Given the description of an element on the screen output the (x, y) to click on. 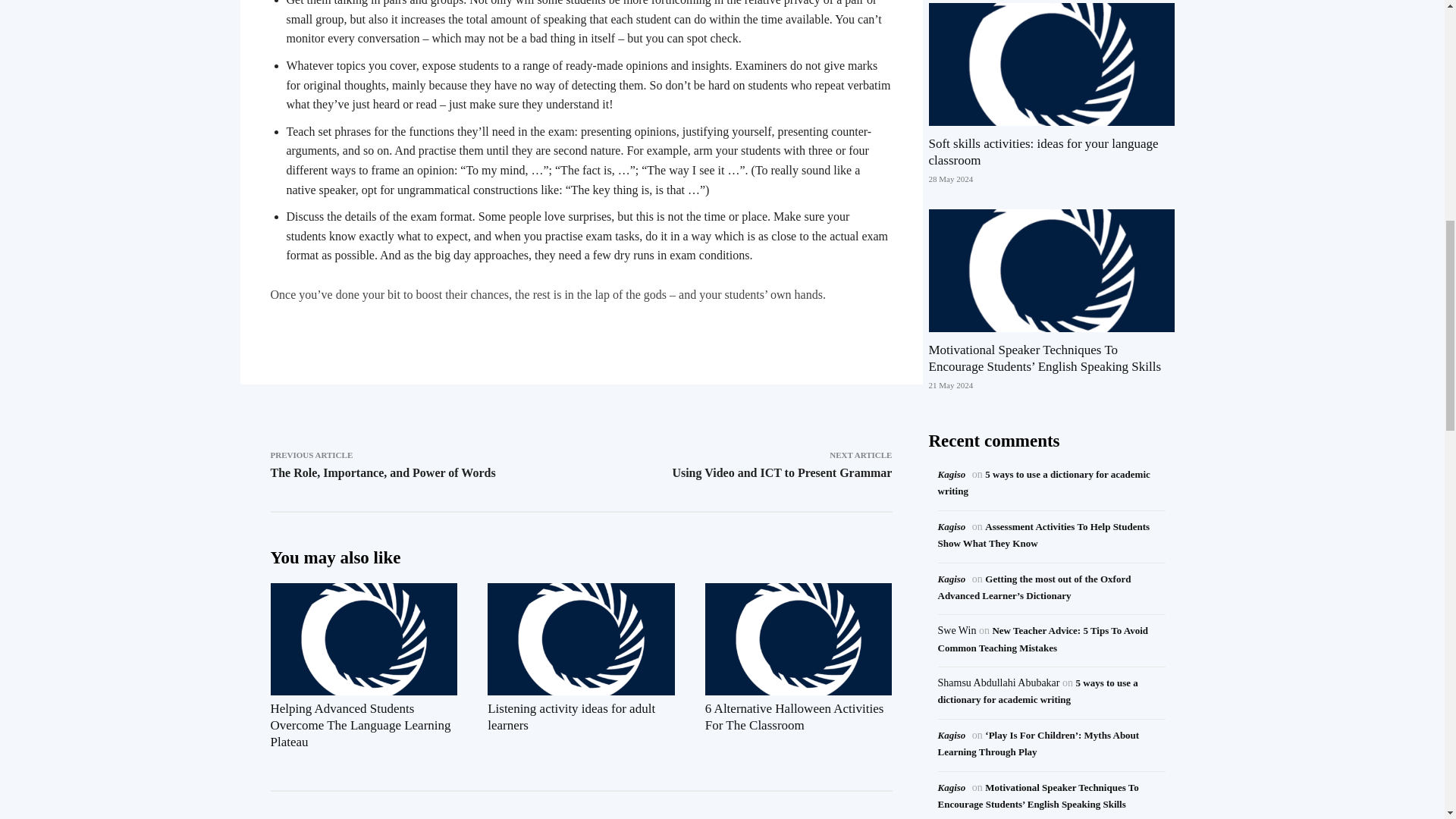
Listening activity ideas for adult learners (571, 716)
Using Video and ICT to Present Grammar (781, 472)
6 Alternative Halloween Activities For The Classroom (793, 716)
The Role, Importance, and Power of Words (382, 472)
Bookmark and Share (580, 330)
